Given the description of an element on the screen output the (x, y) to click on. 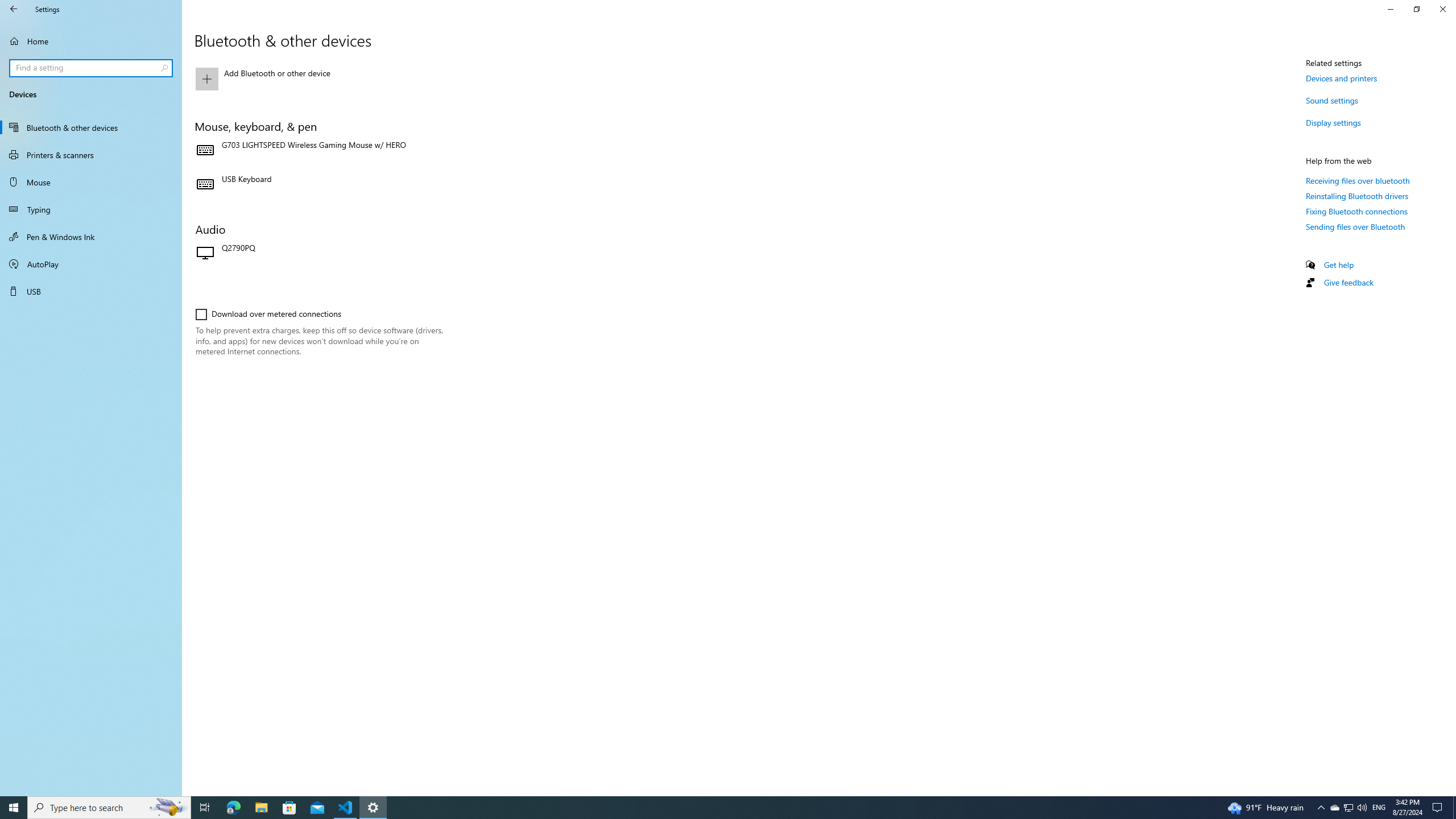
USB Keyboard Type: Keyboard (319, 184)
Typing (91, 208)
Bluetooth & other devices (91, 126)
Receiving files over bluetooth (1357, 180)
Sound settings (1332, 100)
Back (13, 9)
Running applications (706, 807)
Settings - 1 running window (373, 807)
Fixing Bluetooth connections (1356, 211)
Devices and printers (1341, 77)
Tray Input Indicator - English (United States) (1378, 807)
Sending files over Bluetooth (1355, 226)
Get help (1338, 264)
